Given the description of an element on the screen output the (x, y) to click on. 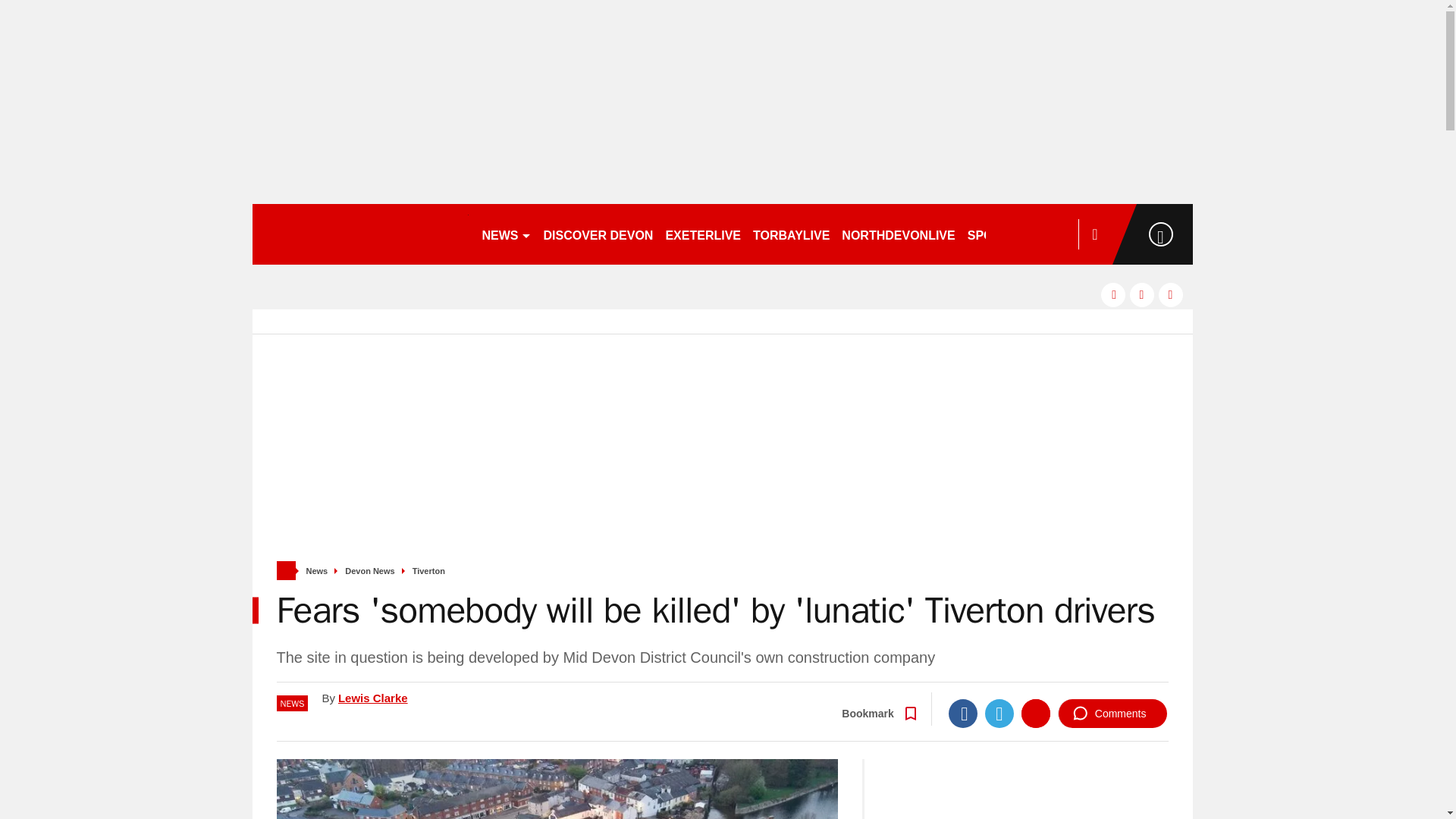
NEWS (506, 233)
twitter (1141, 294)
devonlive (359, 233)
Facebook (962, 713)
EXETERLIVE (702, 233)
DISCOVER DEVON (598, 233)
NORTHDEVONLIVE (897, 233)
instagram (1170, 294)
Twitter (999, 713)
SPORT (993, 233)
TORBAYLIVE (790, 233)
Comments (1112, 713)
facebook (1112, 294)
